Given the description of an element on the screen output the (x, y) to click on. 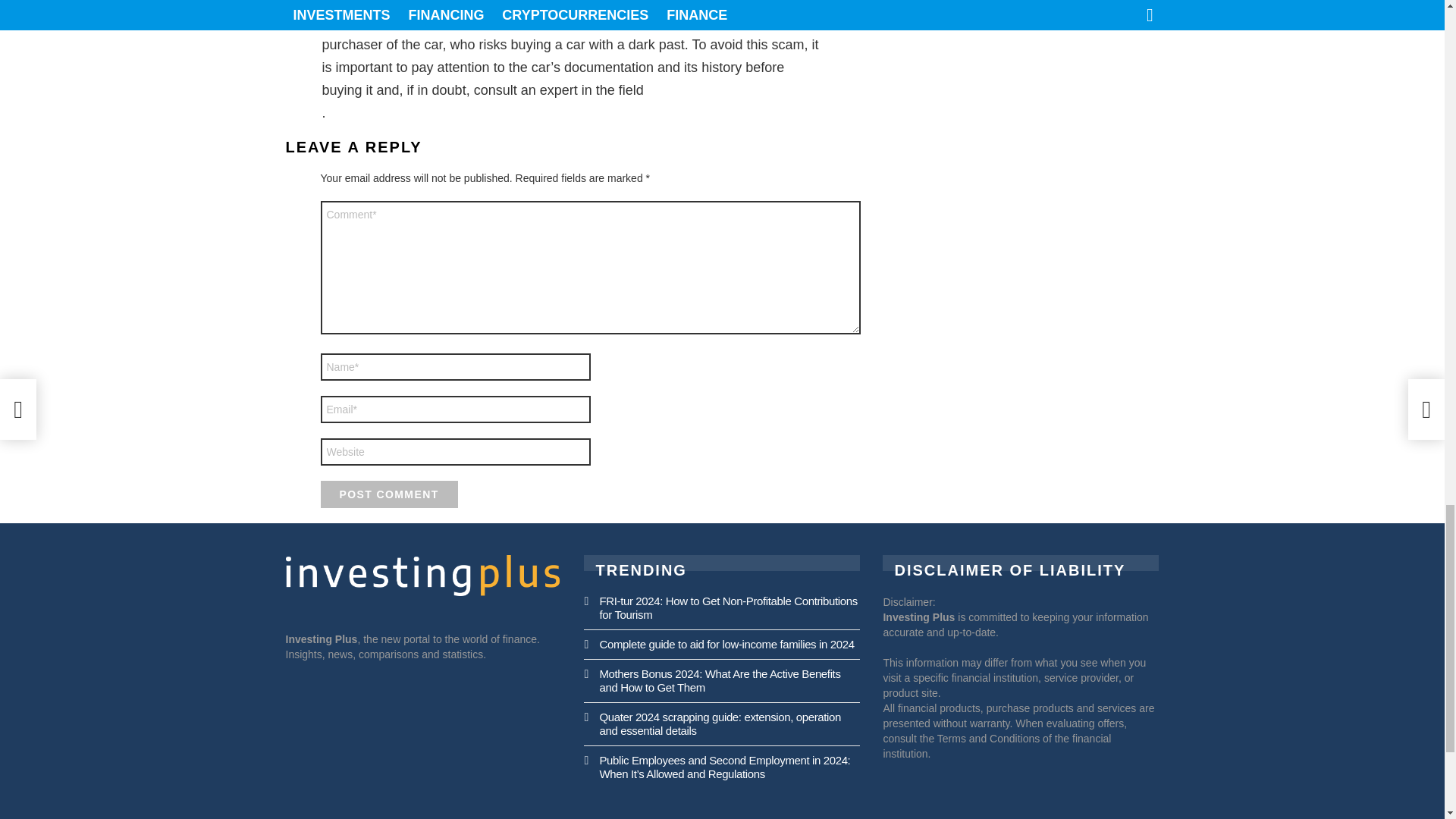
Complete guide to aid for low-income families in 2024 (725, 644)
Post Comment (388, 493)
Post Comment (388, 493)
